Given the description of an element on the screen output the (x, y) to click on. 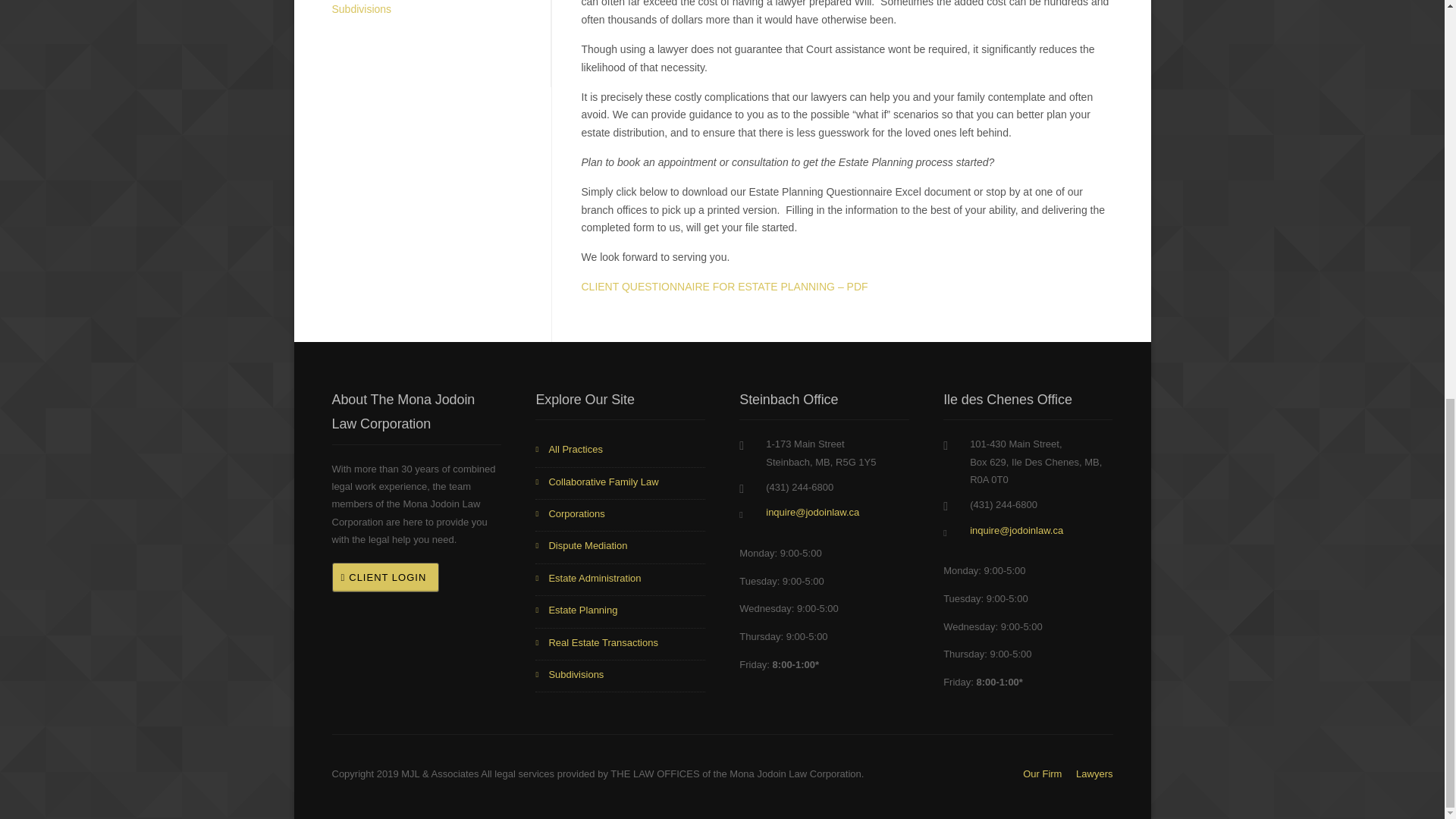
CosmoLex Client Login (385, 577)
All Practices (619, 450)
Corporations (619, 515)
Estate Planning (619, 612)
Dispute Mediation (619, 547)
Estate Administration (619, 580)
CLIENT LOGIN (385, 577)
Collaborative Family Law (619, 483)
Subdivisions (426, 13)
